Given the description of an element on the screen output the (x, y) to click on. 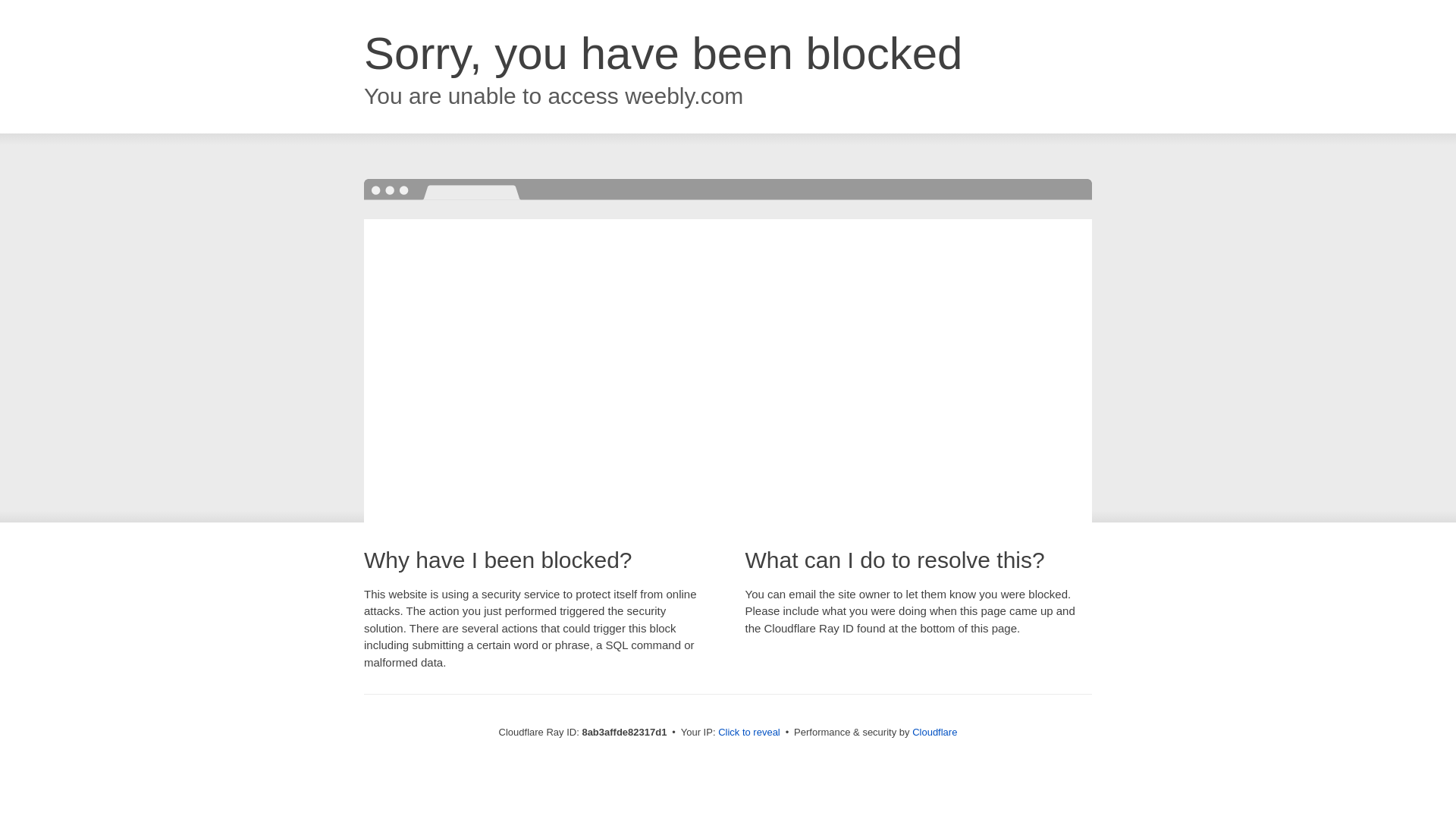
Click to reveal (748, 732)
Cloudflare (934, 731)
